Given the description of an element on the screen output the (x, y) to click on. 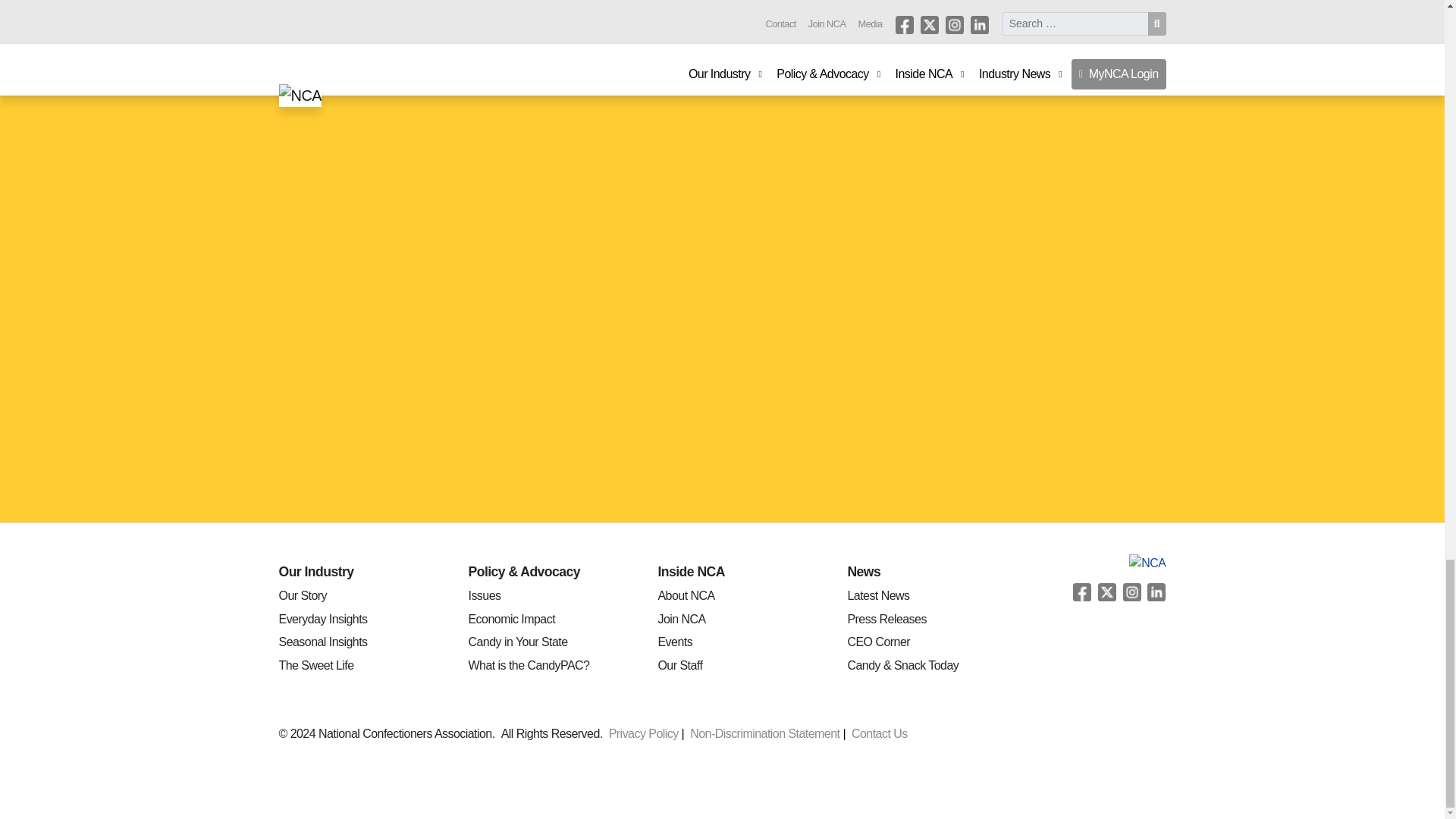
Non-Discrimination Statement (770, 733)
Privacy Policy (649, 733)
Contact Us (882, 733)
